Given the description of an element on the screen output the (x, y) to click on. 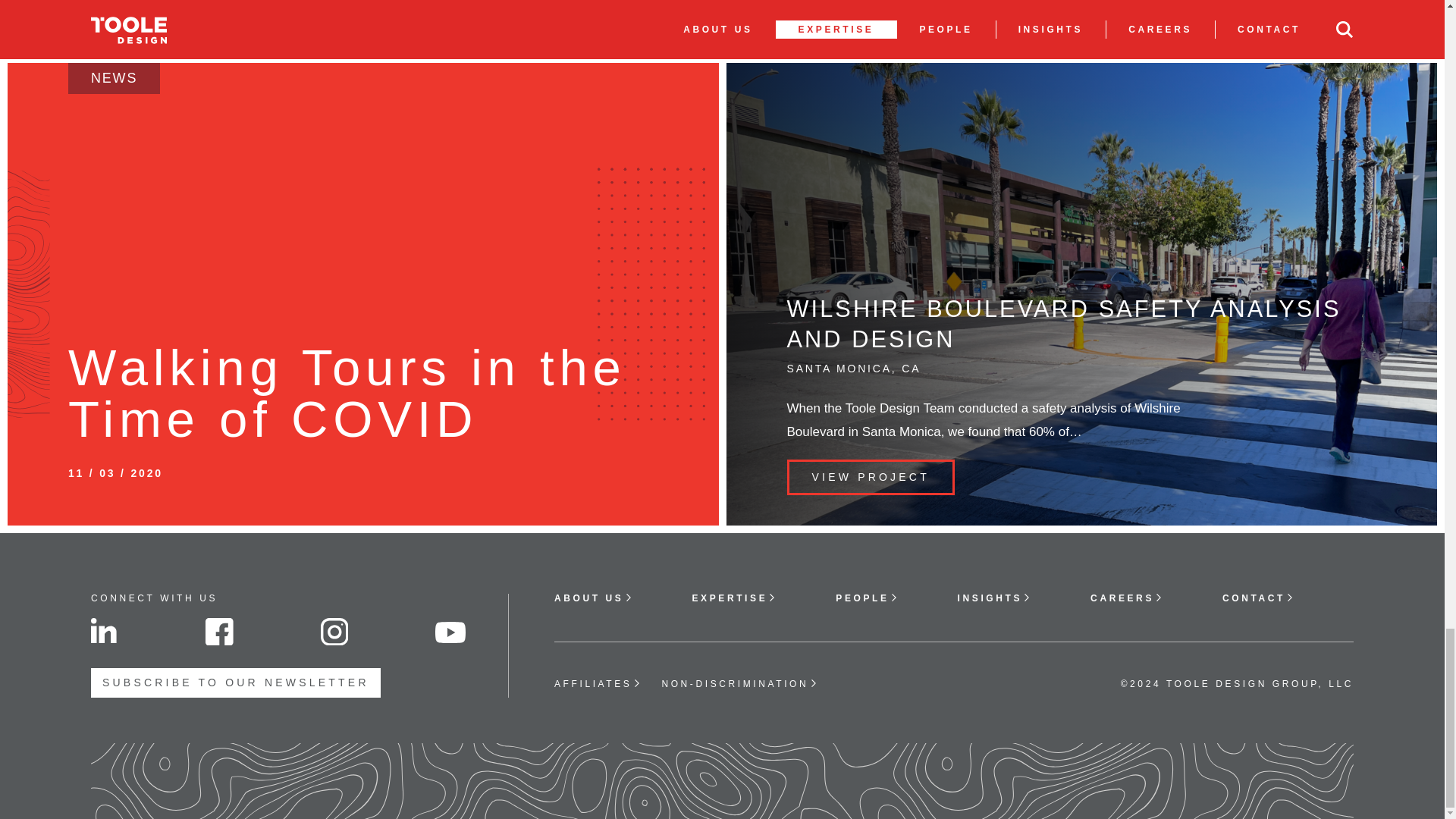
EXPERTISE (733, 597)
NON-DISCRIMINATION (738, 683)
SUBSCRIBE TO OUR NEWSLETTER (235, 682)
CAREERS (1126, 597)
CONTACT (1258, 597)
AFFILIATES (597, 683)
INSIGHTS (994, 597)
ABOUT US (592, 597)
PEOPLE (866, 597)
